Given the description of an element on the screen output the (x, y) to click on. 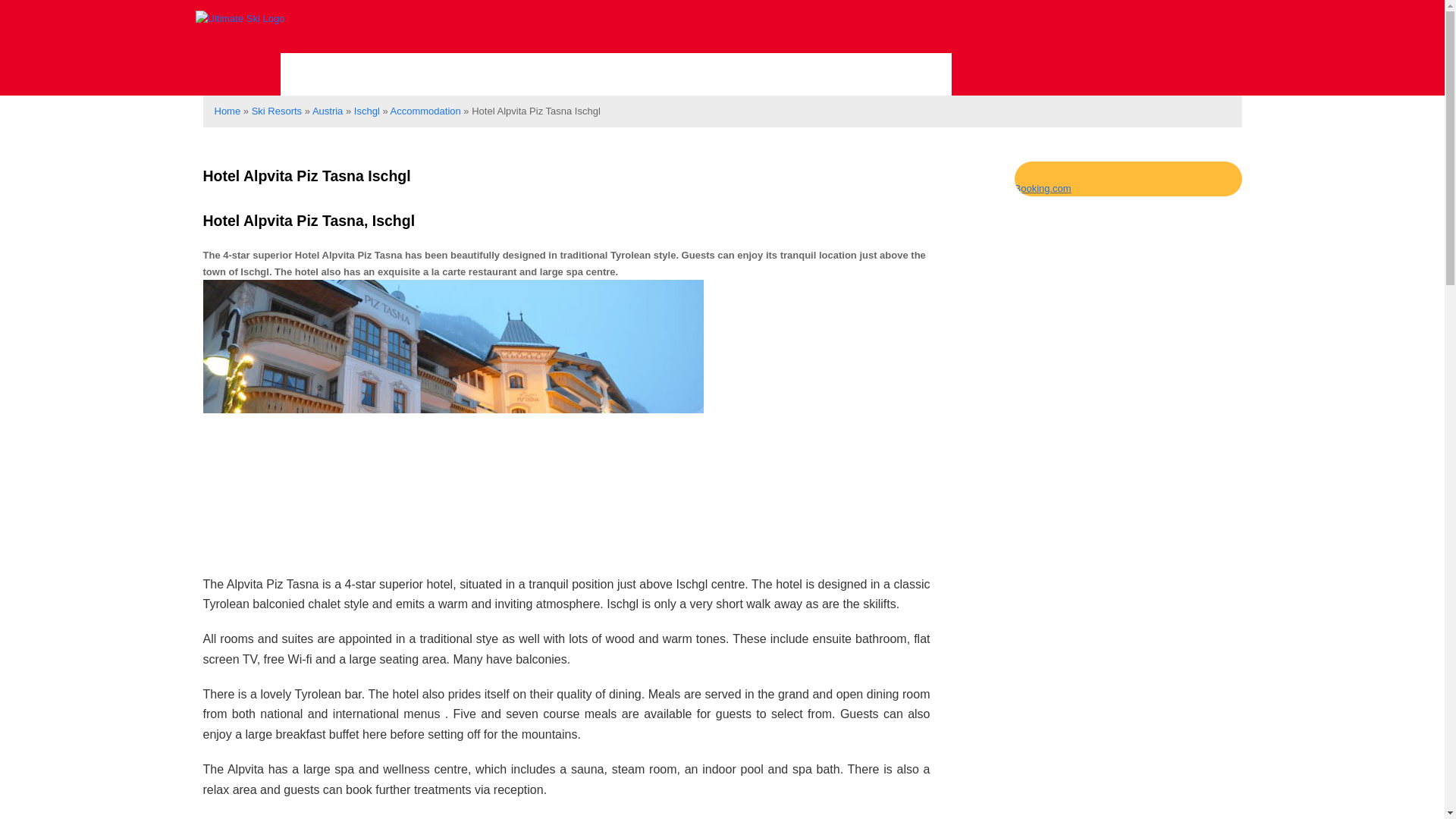
Accommodation (425, 111)
Ski Lessons (489, 74)
Ski Resorts (276, 111)
Accommodation (867, 74)
Ski Rental (615, 74)
Ischgl (366, 111)
Features (729, 74)
Ski Resorts (351, 74)
Booking.com (1042, 188)
Home (227, 111)
Austria (327, 111)
